Given the description of an element on the screen output the (x, y) to click on. 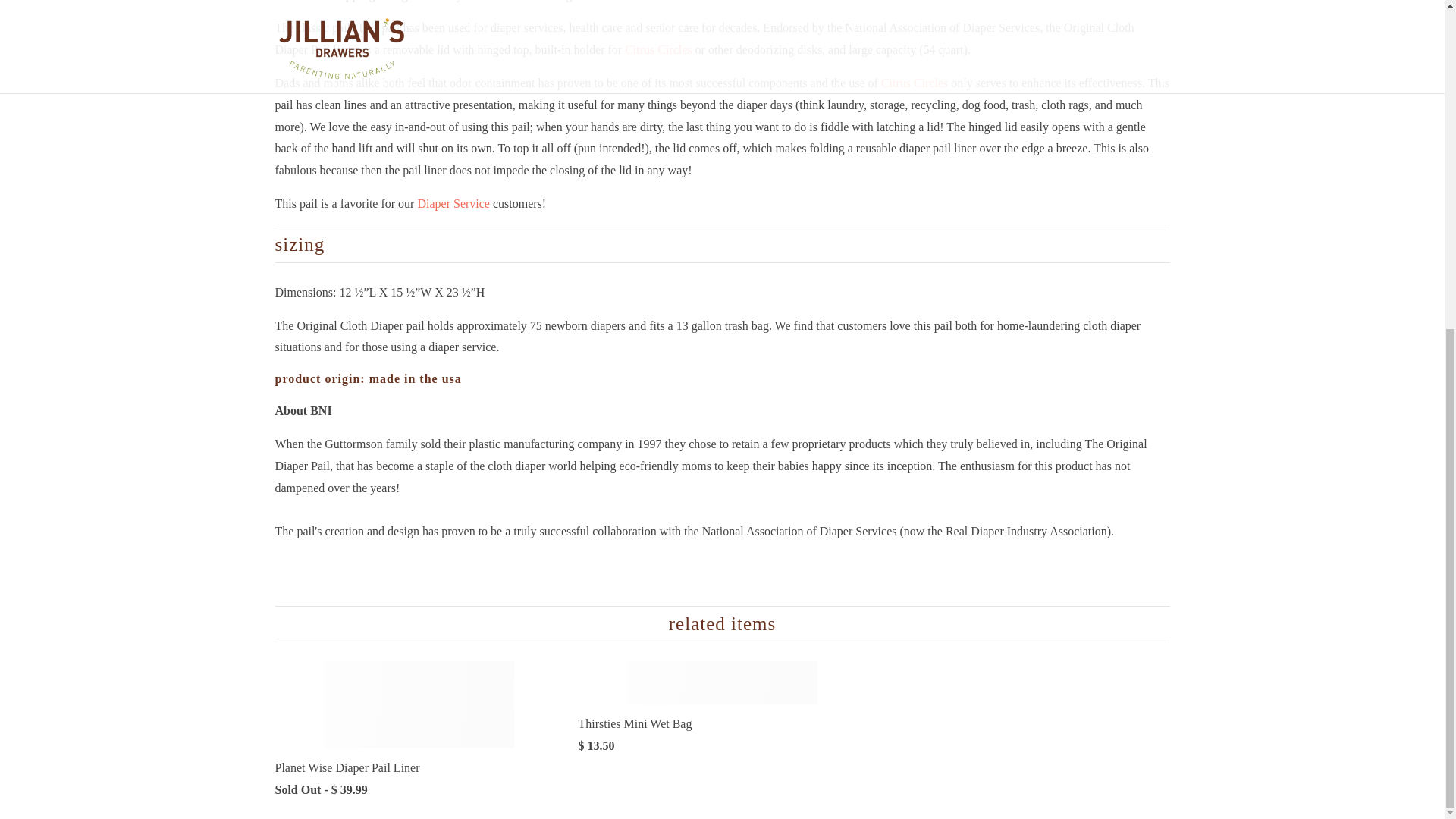
Citrus Circles - Deodorizing Disks at Jillian's Drawers (913, 82)
